Given the description of an element on the screen output the (x, y) to click on. 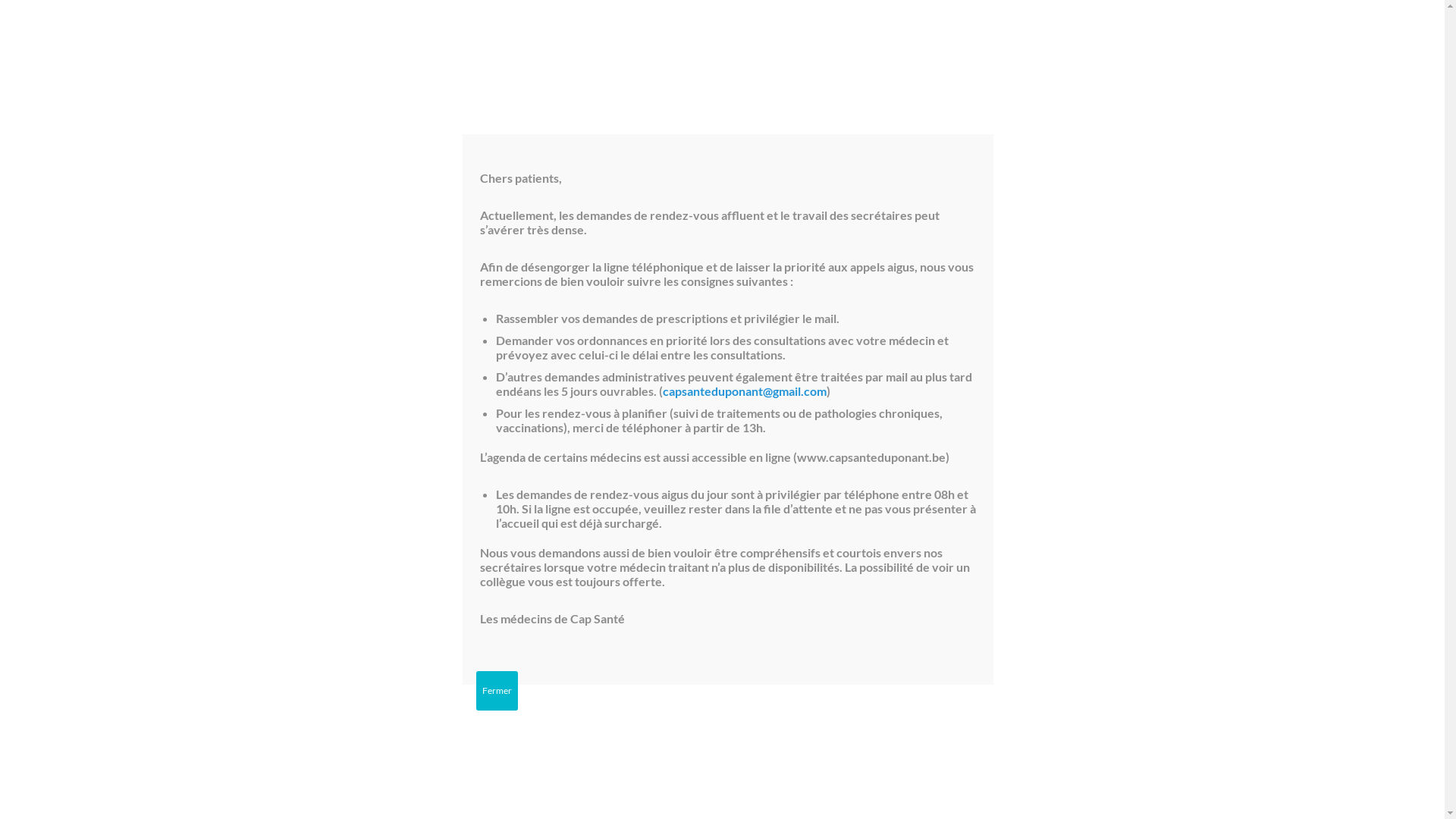
STAGE & ASSISTANAT Element type: text (955, 63)
Je refuse Element type: text (757, 787)
081 61 29 38 Element type: text (1093, 15)
Fermer Element type: text (496, 690)
GARDES & URGENCES Element type: text (457, 63)
081 56 75 76 Element type: text (1015, 464)
ACCUEIL Element type: text (142, 63)
GARDES & URGENCES Element type: text (1360, 15)
PRENDRE RDV Element type: text (1214, 15)
J'accepte Element type: text (698, 787)
capsanteduponant@gmail.com Element type: text (744, 390)
LOCATION DE CABINETS Element type: text (829, 63)
COMMUNICATIONS Element type: text (961, 15)
ADRESSES Element type: text (553, 63)
A PROPOS Element type: text (726, 63)
CONTACT Element type: text (1048, 63)
